Given the description of an element on the screen output the (x, y) to click on. 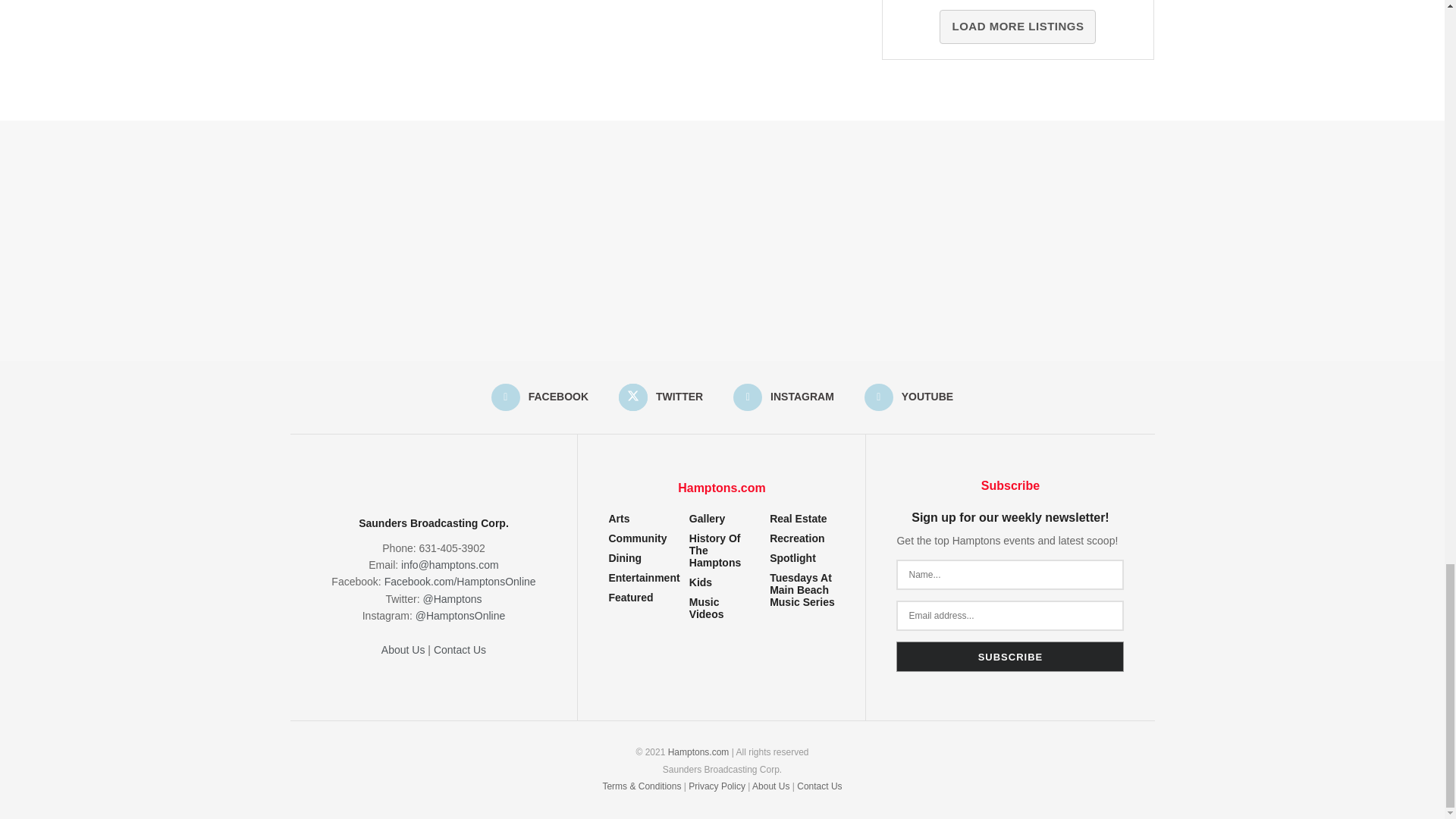
Hamptons.com (698, 751)
SUBSCRIBE (1010, 656)
